Given the description of an element on the screen output the (x, y) to click on. 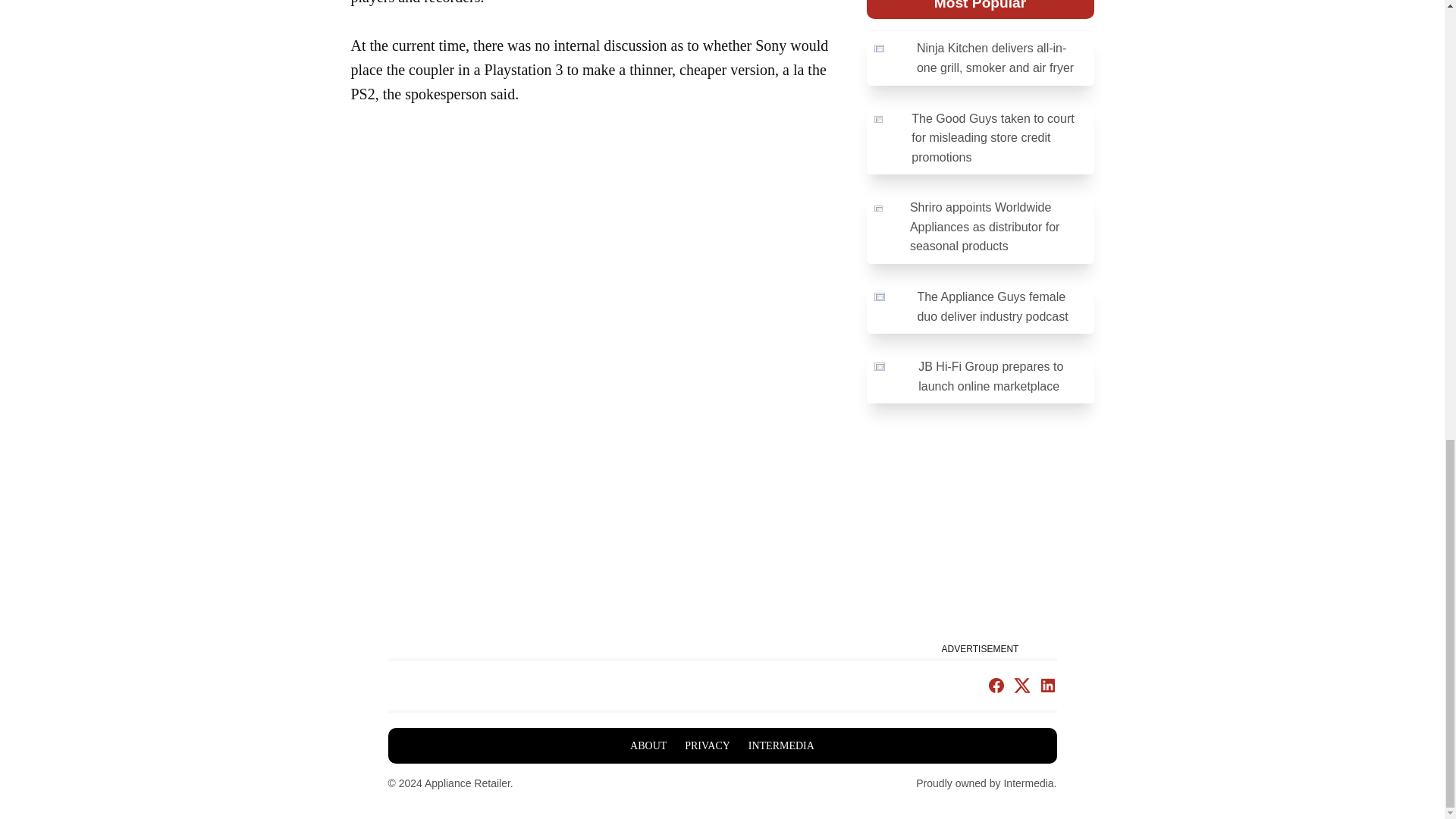
JB Hi-Fi Group prepares to launch online marketplace (979, 376)
The Appliance Guys female duo deliver industry podcast (979, 306)
